Given the description of an element on the screen output the (x, y) to click on. 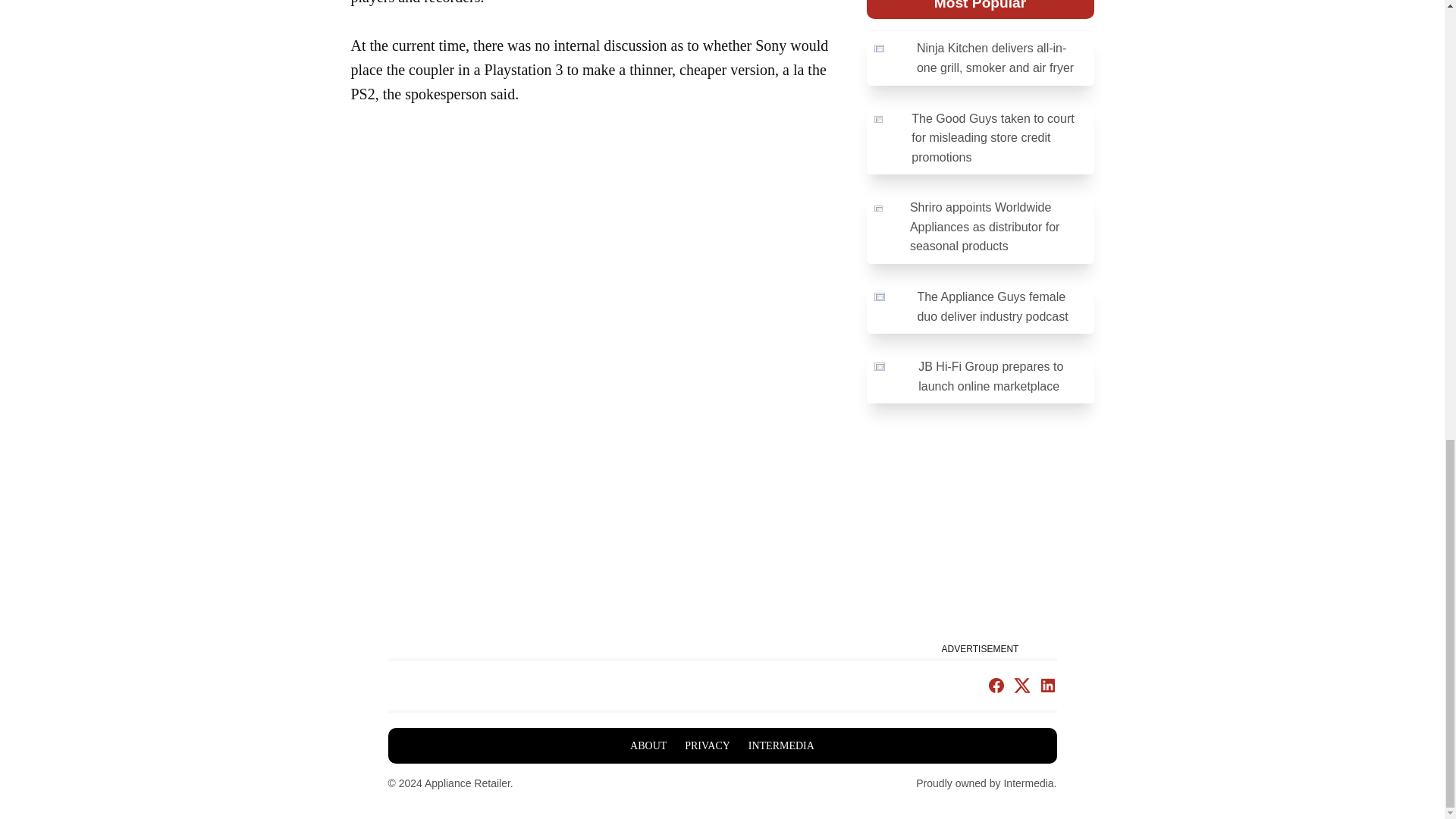
JB Hi-Fi Group prepares to launch online marketplace (979, 376)
The Appliance Guys female duo deliver industry podcast (979, 306)
